Given the description of an element on the screen output the (x, y) to click on. 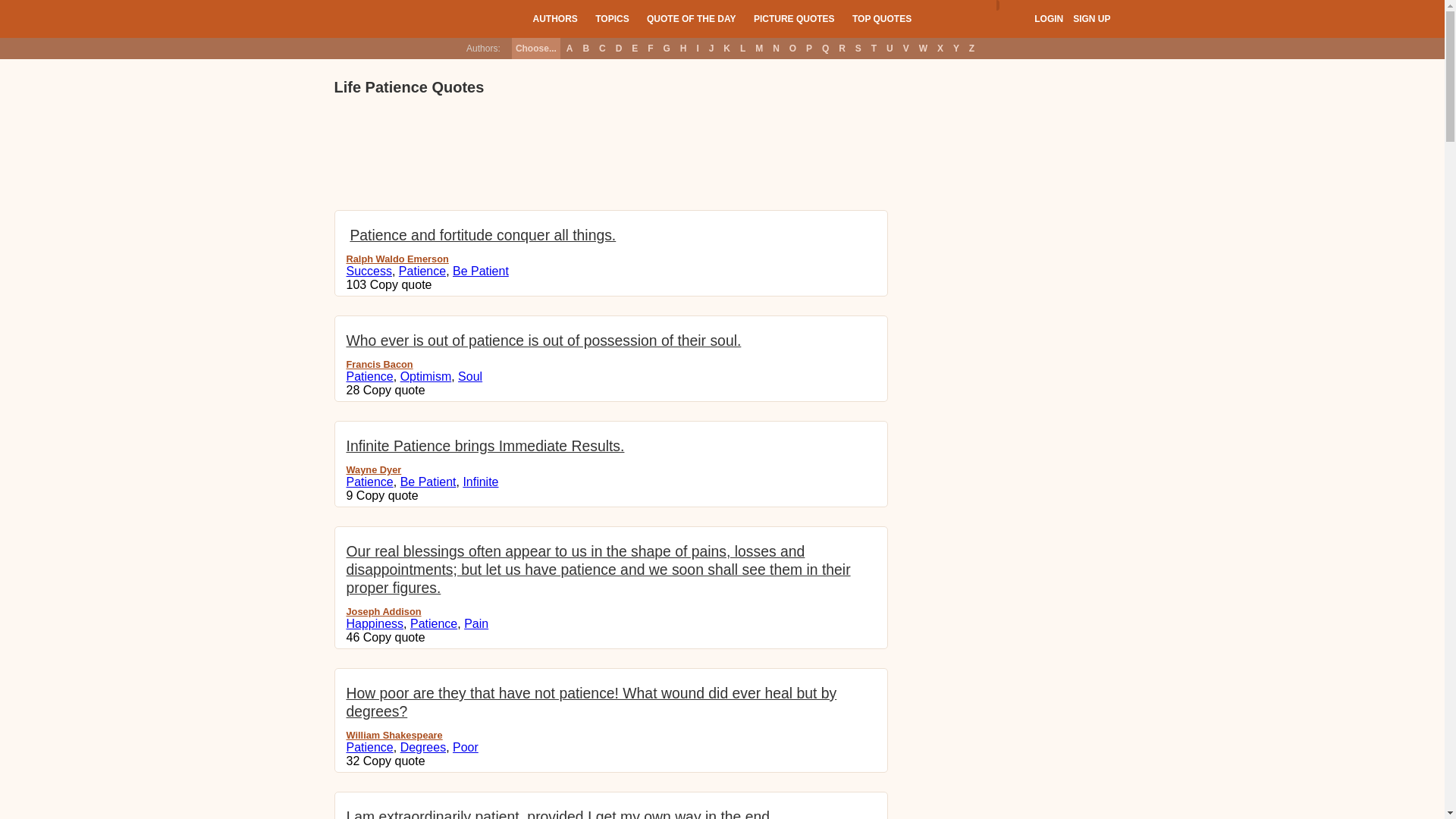
PICTURE QUOTES (794, 18)
TOP QUOTES (881, 18)
Quote is copied (400, 284)
Quote is copied (393, 760)
Quote is copied (393, 636)
QUOTE OF THE DAY (691, 18)
LOGIN (1047, 18)
Choose... (536, 47)
Quote is copied (393, 390)
Quote is copied (387, 495)
